Given the description of an element on the screen output the (x, y) to click on. 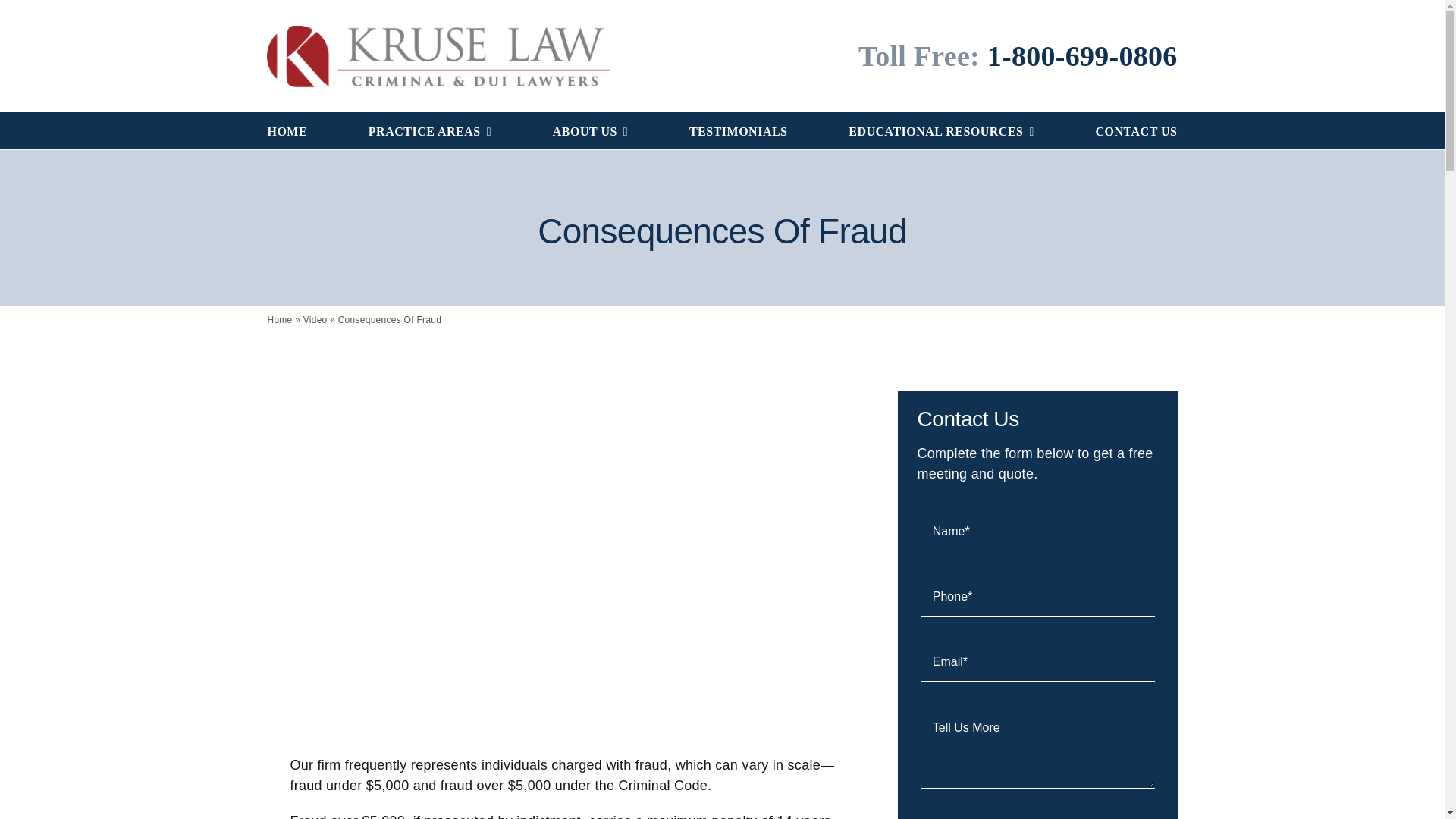
HOME (286, 130)
CONTACT US (1135, 130)
PRACTICE AREAS (430, 130)
TESTIMONIALS (737, 130)
ABOUT US (590, 130)
EDUCATIONAL RESOURCES (940, 130)
1-800-699-0806 (1082, 56)
